Given the description of an element on the screen output the (x, y) to click on. 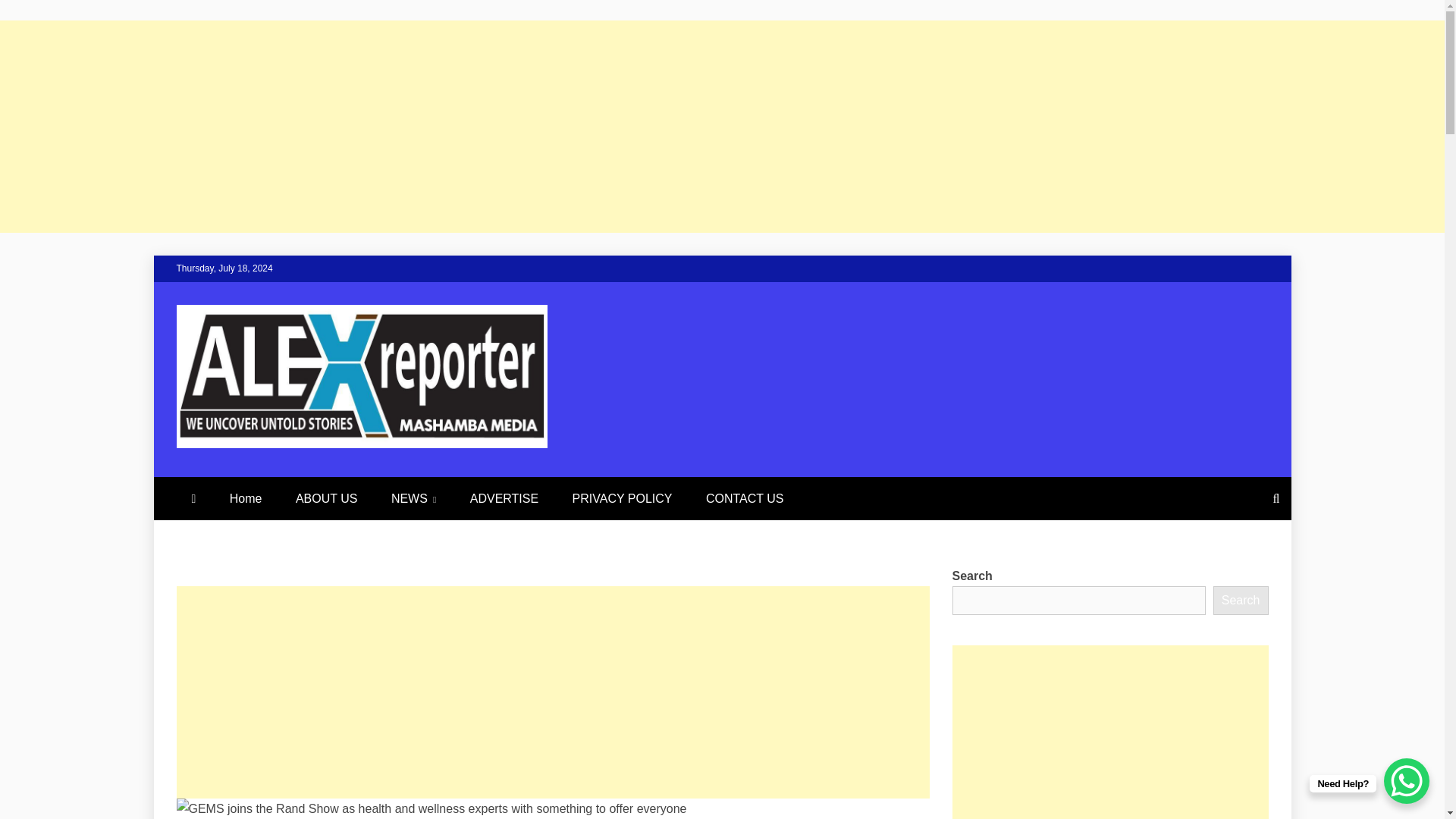
NEWS (413, 498)
Home (246, 498)
Advertisement (1110, 732)
ALEX REPORTER (387, 482)
ADVERTISE (503, 498)
PRIVACY POLICY (622, 498)
ABOUT US (326, 498)
CONTACT US (744, 498)
